Given the description of an element on the screen output the (x, y) to click on. 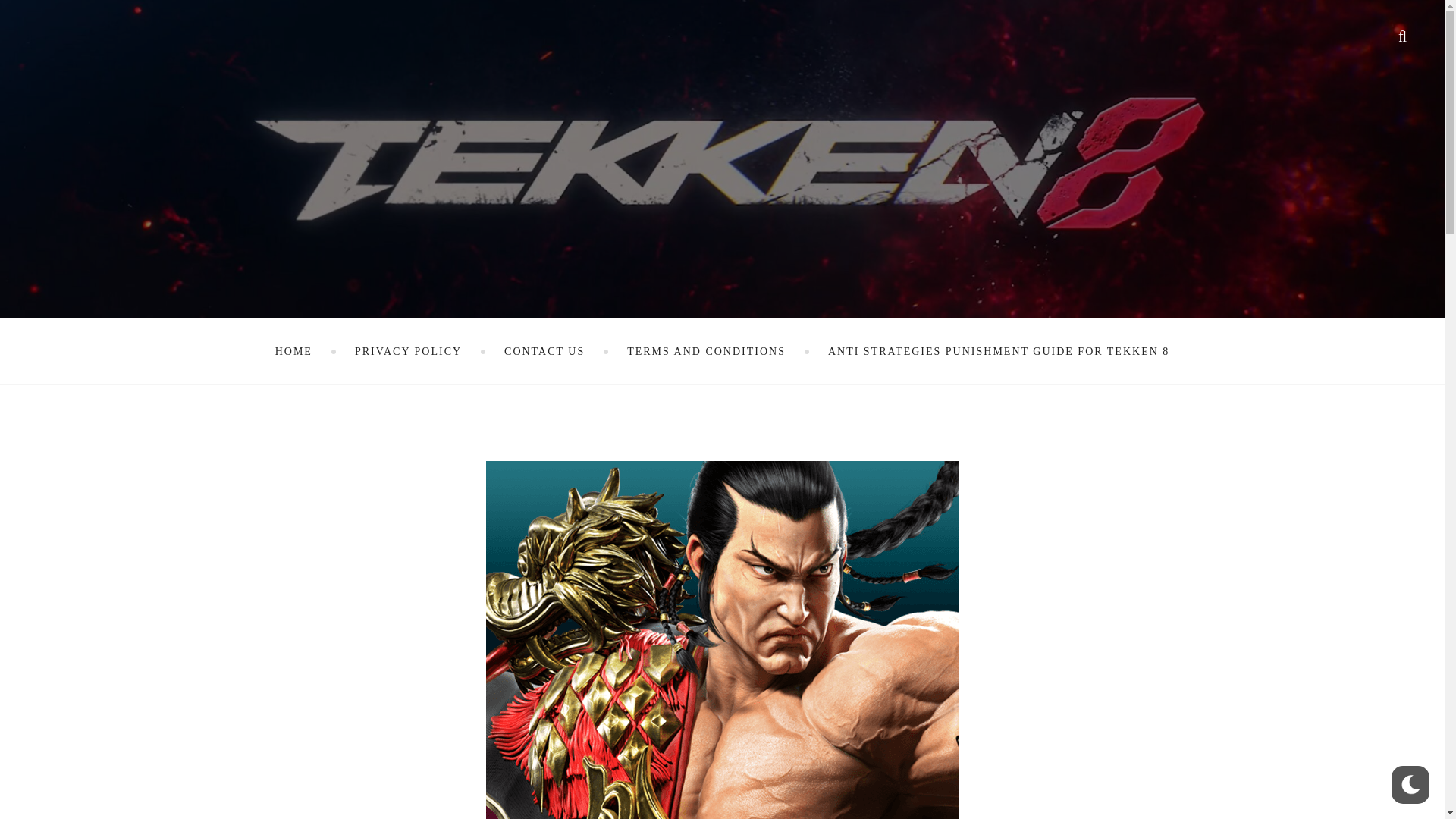
CONTACT US (544, 351)
ANTI STRATEGIES PUNISHMENT GUIDE FOR TEKKEN 8 (998, 351)
PRIVACY POLICY (408, 351)
HOME (294, 351)
TERMS AND CONDITIONS (706, 351)
